Given the description of an element on the screen output the (x, y) to click on. 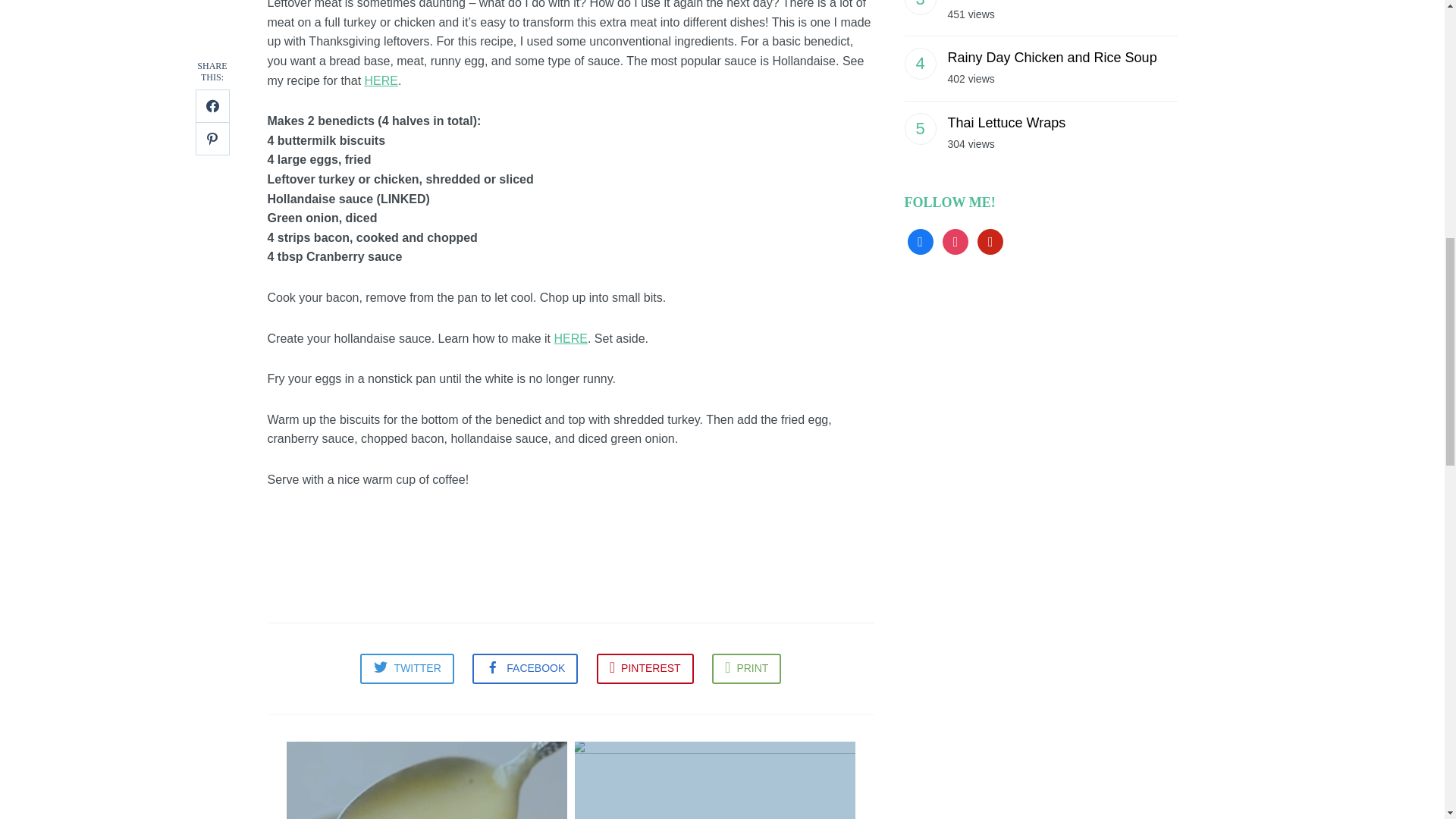
facebook (920, 240)
Share this on Facebook (524, 668)
Print this Page (745, 668)
Hollandaise Sauce (426, 778)
Rainy Day Chicken and Rice Soup (1052, 57)
pinterest (989, 240)
HERE (569, 338)
PINTEREST (645, 668)
Veggie Hummus Wrap (714, 778)
FACEBOOK (524, 668)
Hollandaise Sauce (426, 778)
Thai Lettuce Wraps (1006, 122)
HERE (381, 80)
PRINT (745, 668)
Tweet this on Twitter (406, 668)
